Given the description of an element on the screen output the (x, y) to click on. 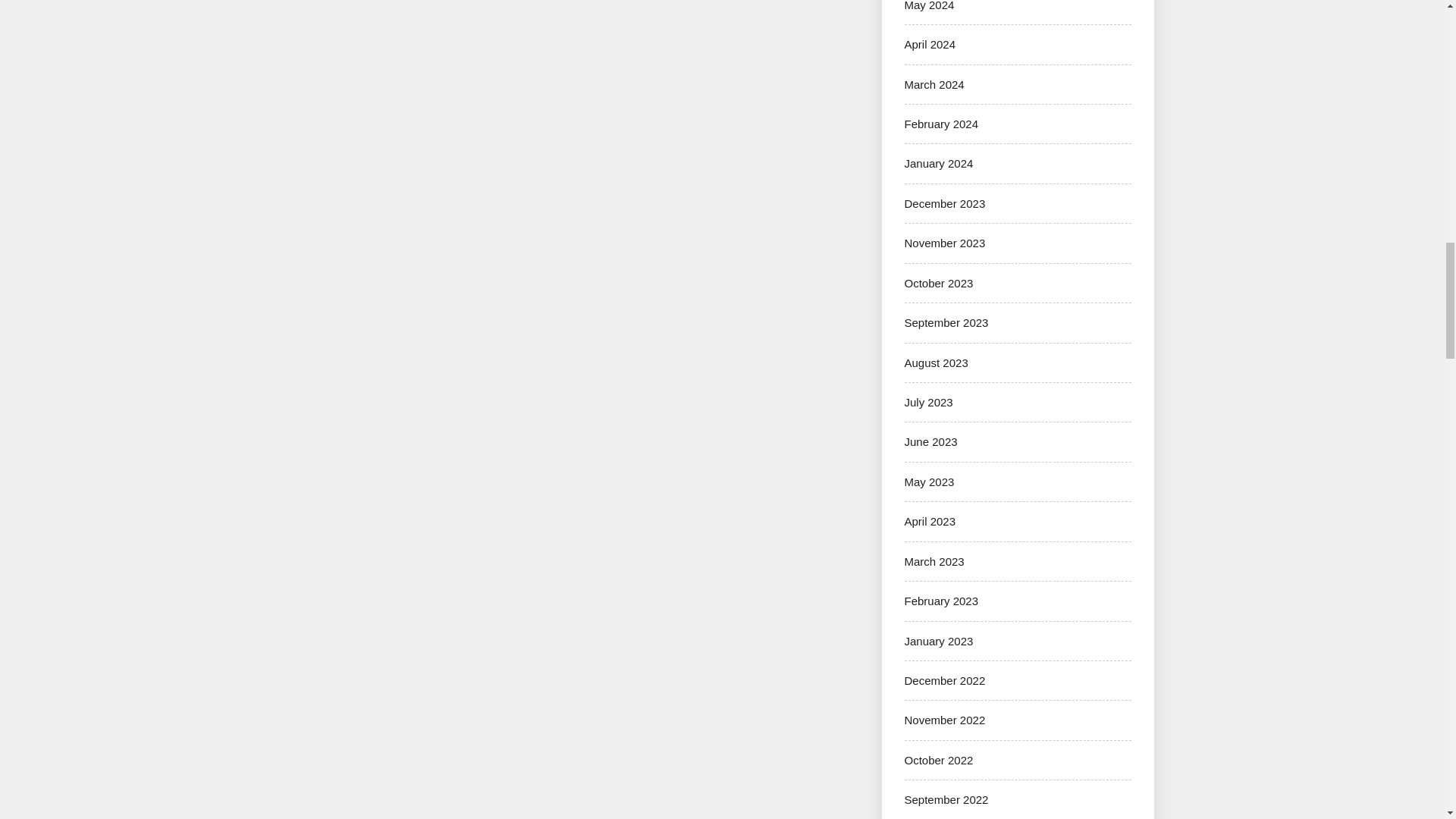
January 2024 (938, 163)
December 2023 (944, 203)
February 2024 (941, 123)
May 2024 (928, 5)
March 2024 (933, 83)
November 2023 (944, 242)
April 2024 (929, 43)
